Given the description of an element on the screen output the (x, y) to click on. 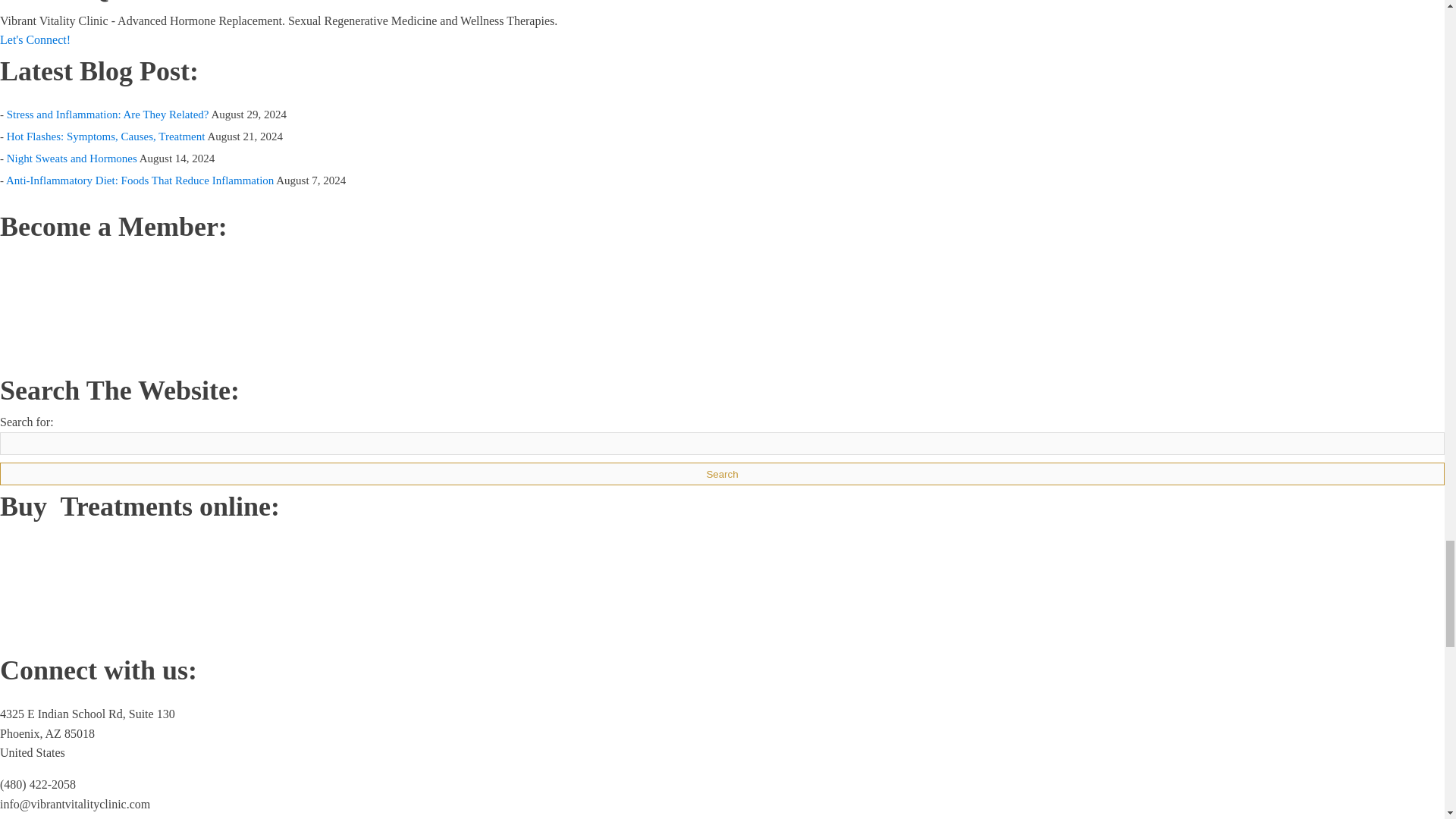
Anti-Inflammatory Diet: Foods That Reduce Inflammation (139, 180)
Let's Connect! (34, 39)
Stress and Inflammation: Are They Related? (108, 114)
Night Sweats and Hormones (71, 158)
Hot Flashes: Symptoms, Causes, Treatment (106, 136)
